Given the description of an element on the screen output the (x, y) to click on. 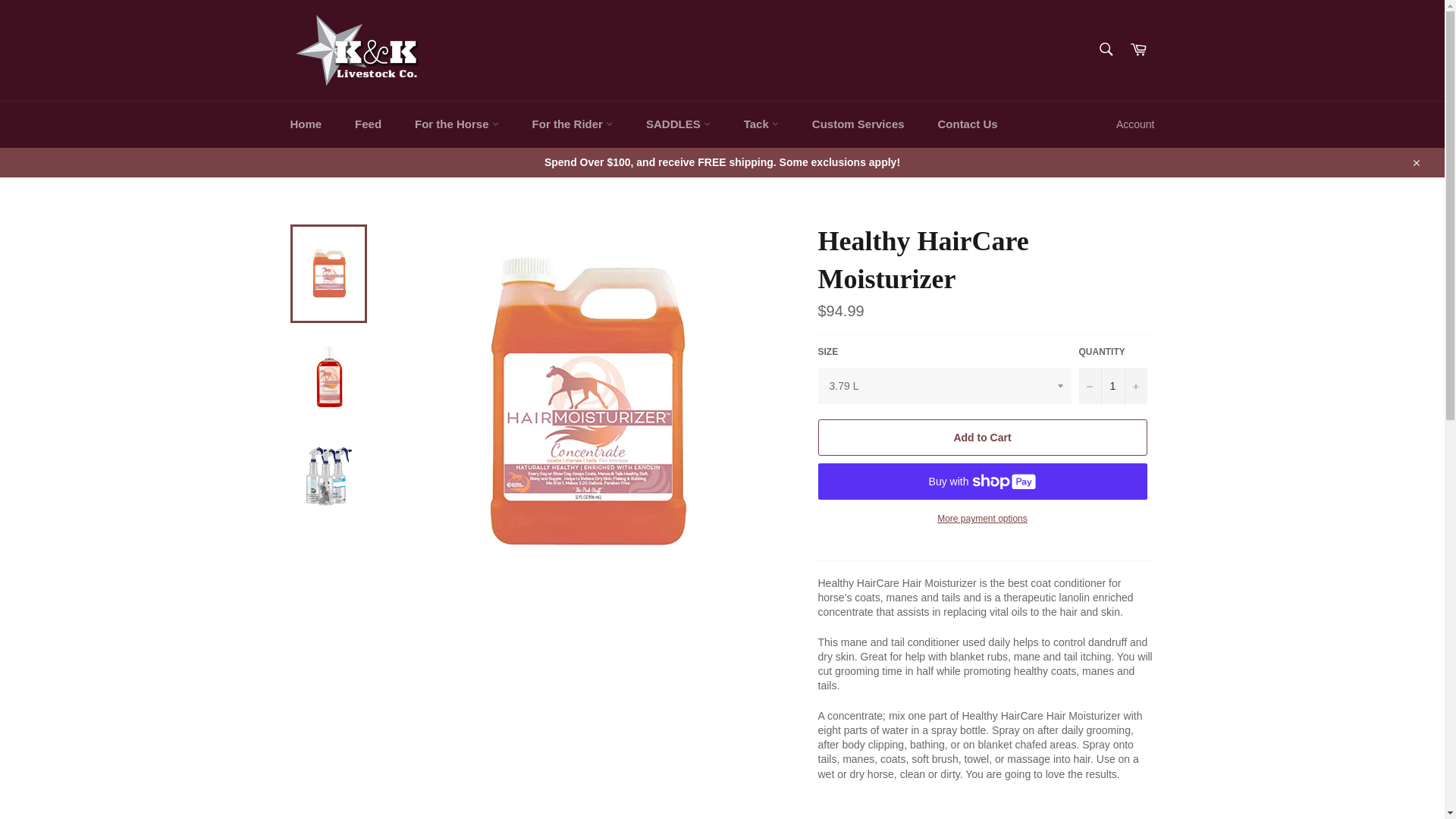
1 (1112, 385)
